Given the description of an element on the screen output the (x, y) to click on. 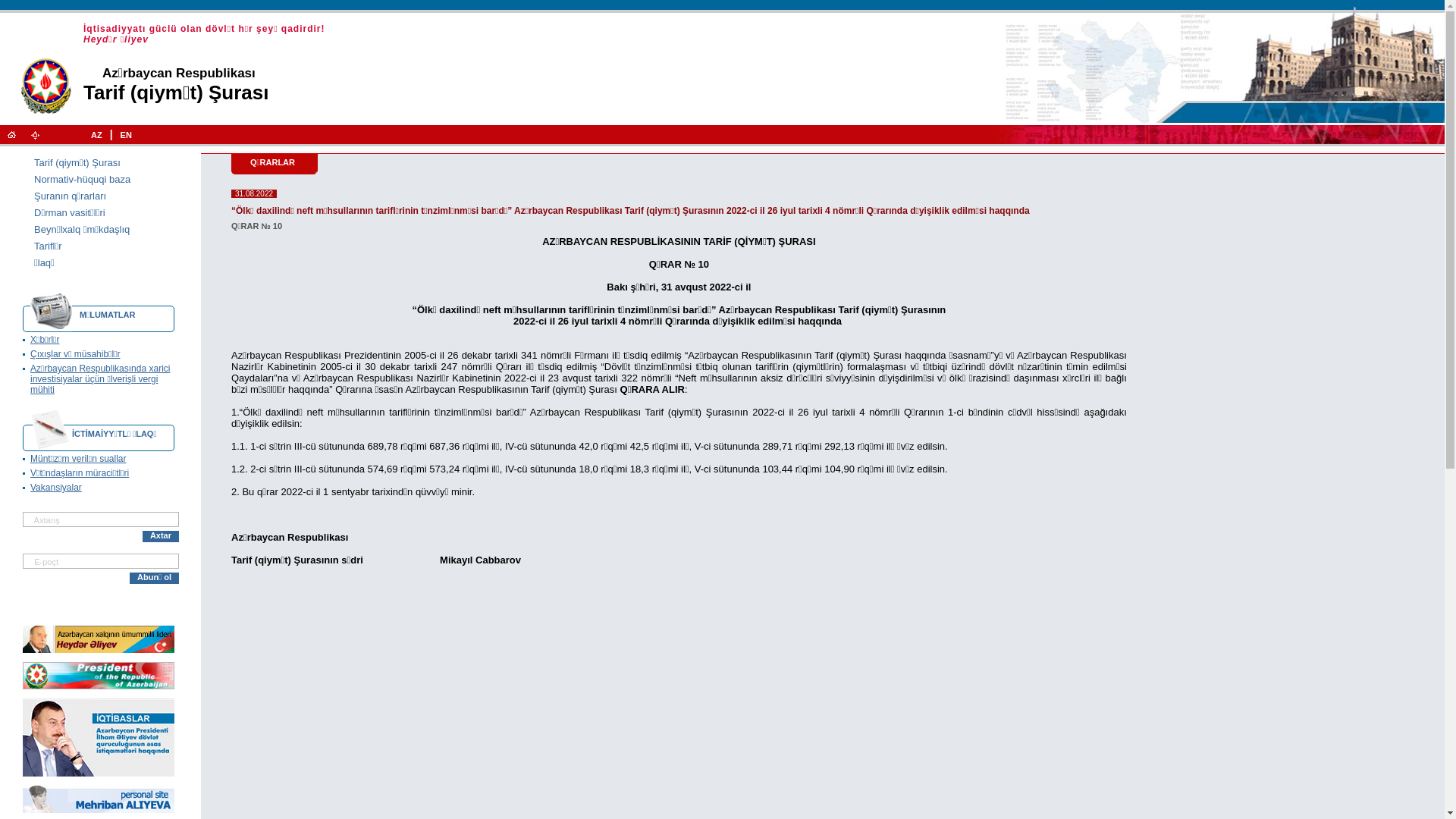
AZ Element type: text (96, 134)
Vakansiyalar Element type: text (55, 487)
EN Element type: text (125, 134)
Axtar Element type: text (160, 536)
